Given the description of an element on the screen output the (x, y) to click on. 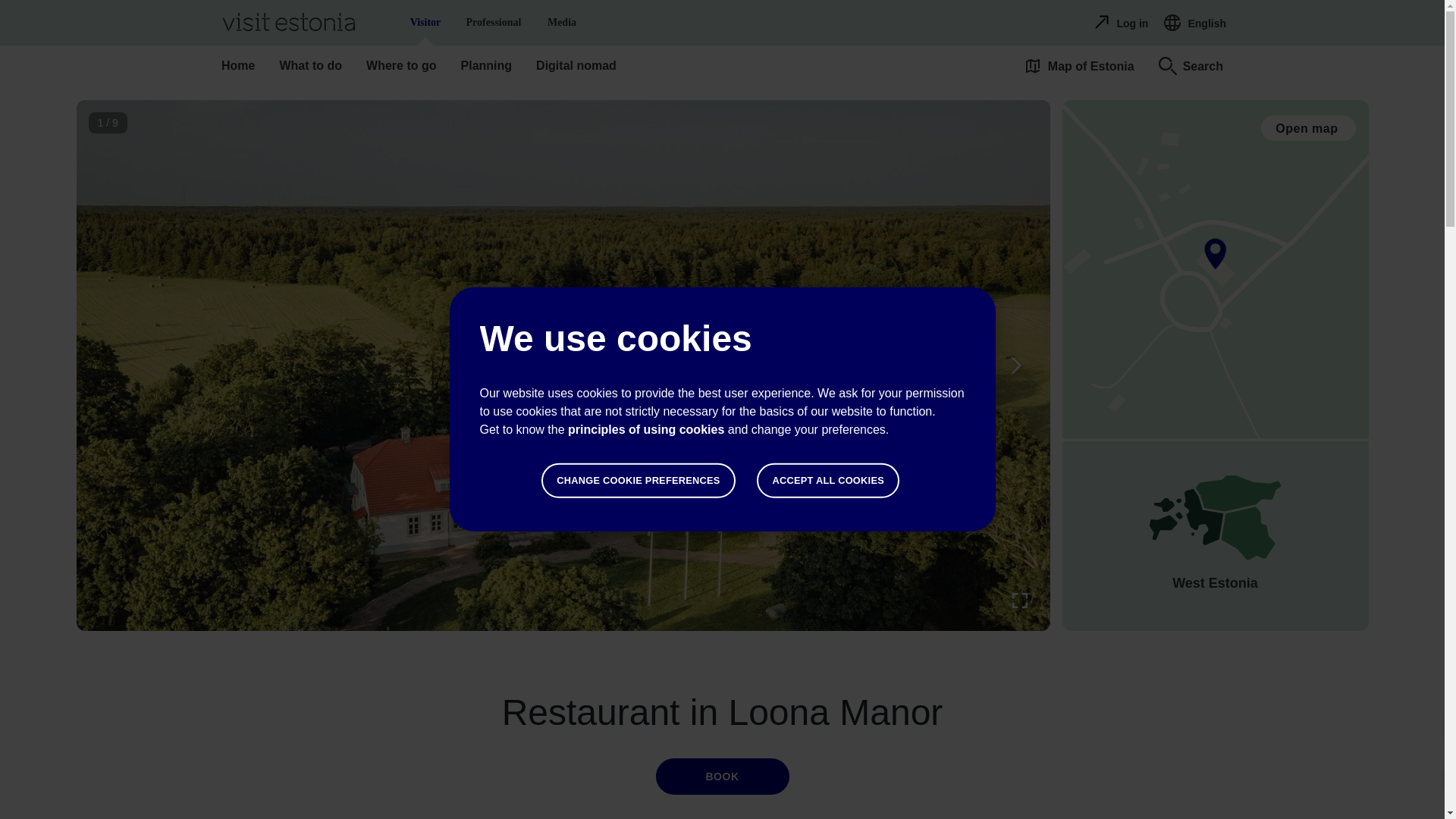
ACCEPT ALL COOKIES (493, 22)
principles of using cookies (828, 480)
CHANGE COOKIE PREFERENCES (645, 429)
